Given the description of an element on the screen output the (x, y) to click on. 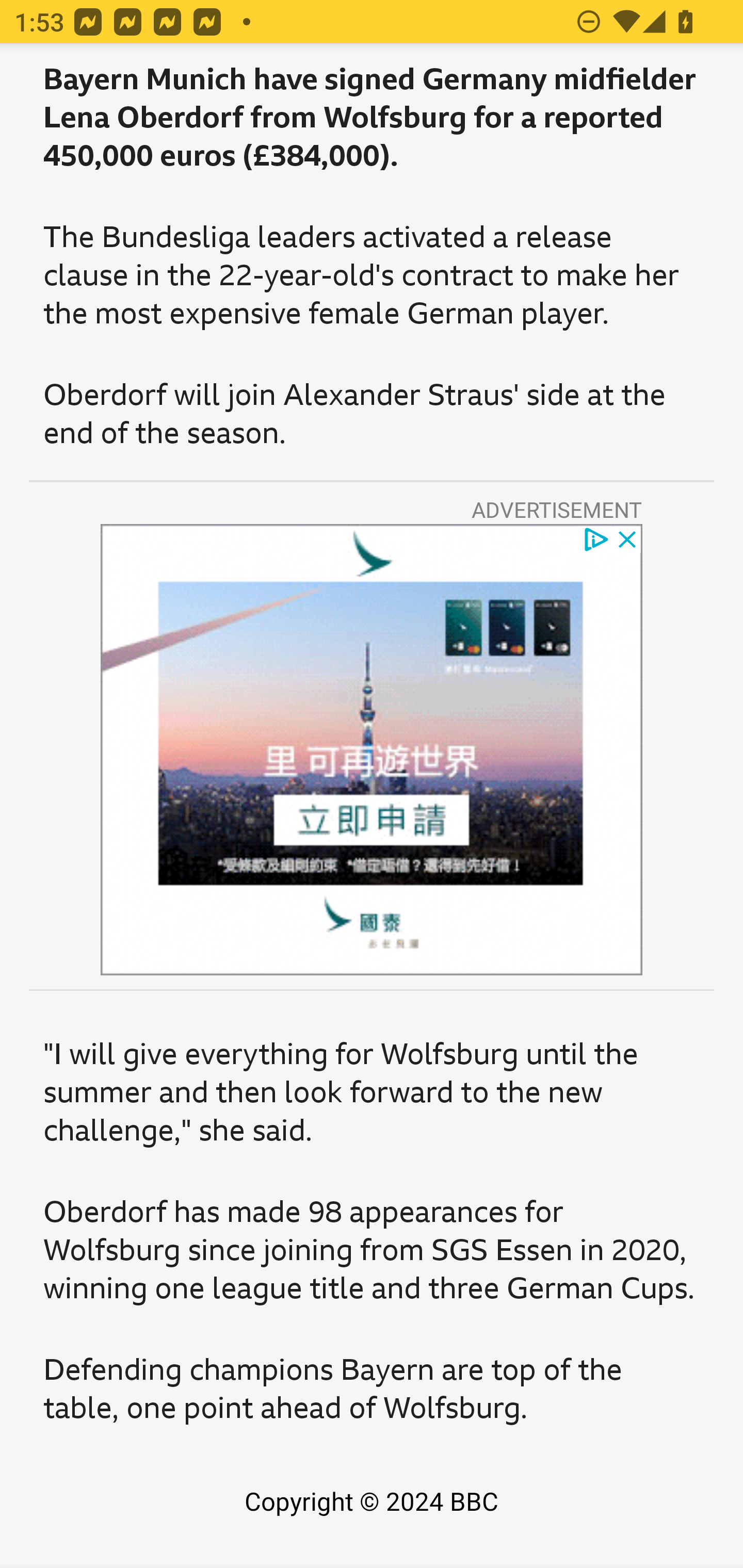
privacy_small (595, 538)
close_button (627, 538)
